Given the description of an element on the screen output the (x, y) to click on. 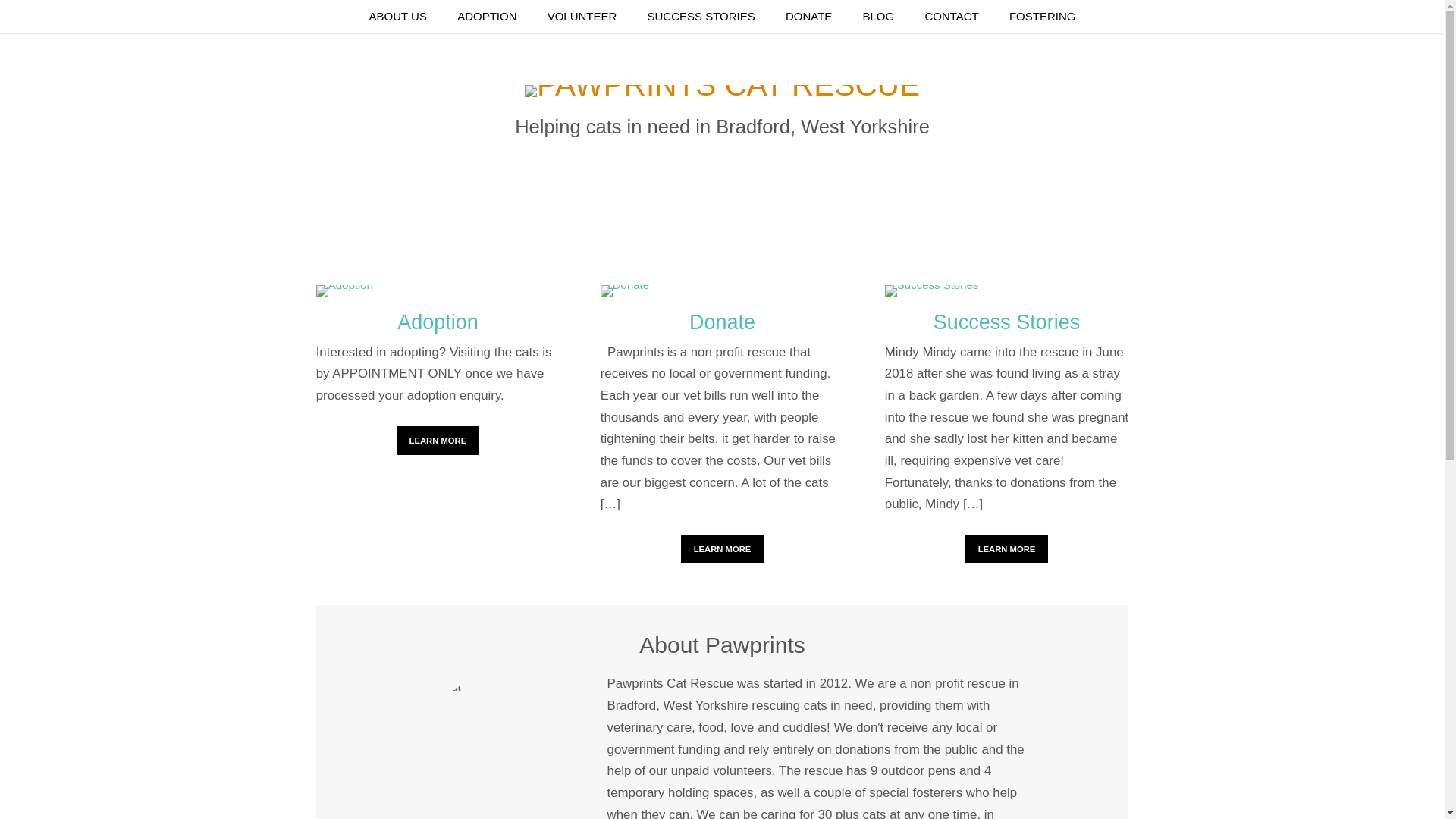
Adoption (437, 322)
Success Stories (1006, 293)
Adoption (438, 440)
Adoption (437, 293)
LEARN MORE (1006, 548)
DONATE (808, 16)
Success Stories (1006, 322)
LEARN MORE (722, 548)
Donate (722, 548)
Donate (721, 322)
VOLUNTEER (582, 16)
FOSTERING (1042, 16)
ADOPTION (486, 16)
Success Stories (1006, 548)
BLOG (878, 16)
